Given the description of an element on the screen output the (x, y) to click on. 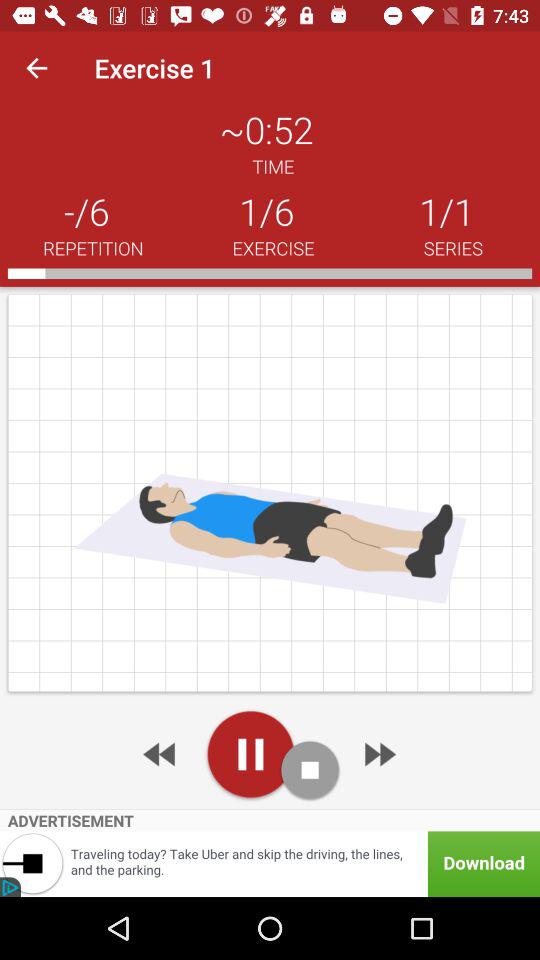
come back (161, 754)
